Given the description of an element on the screen output the (x, y) to click on. 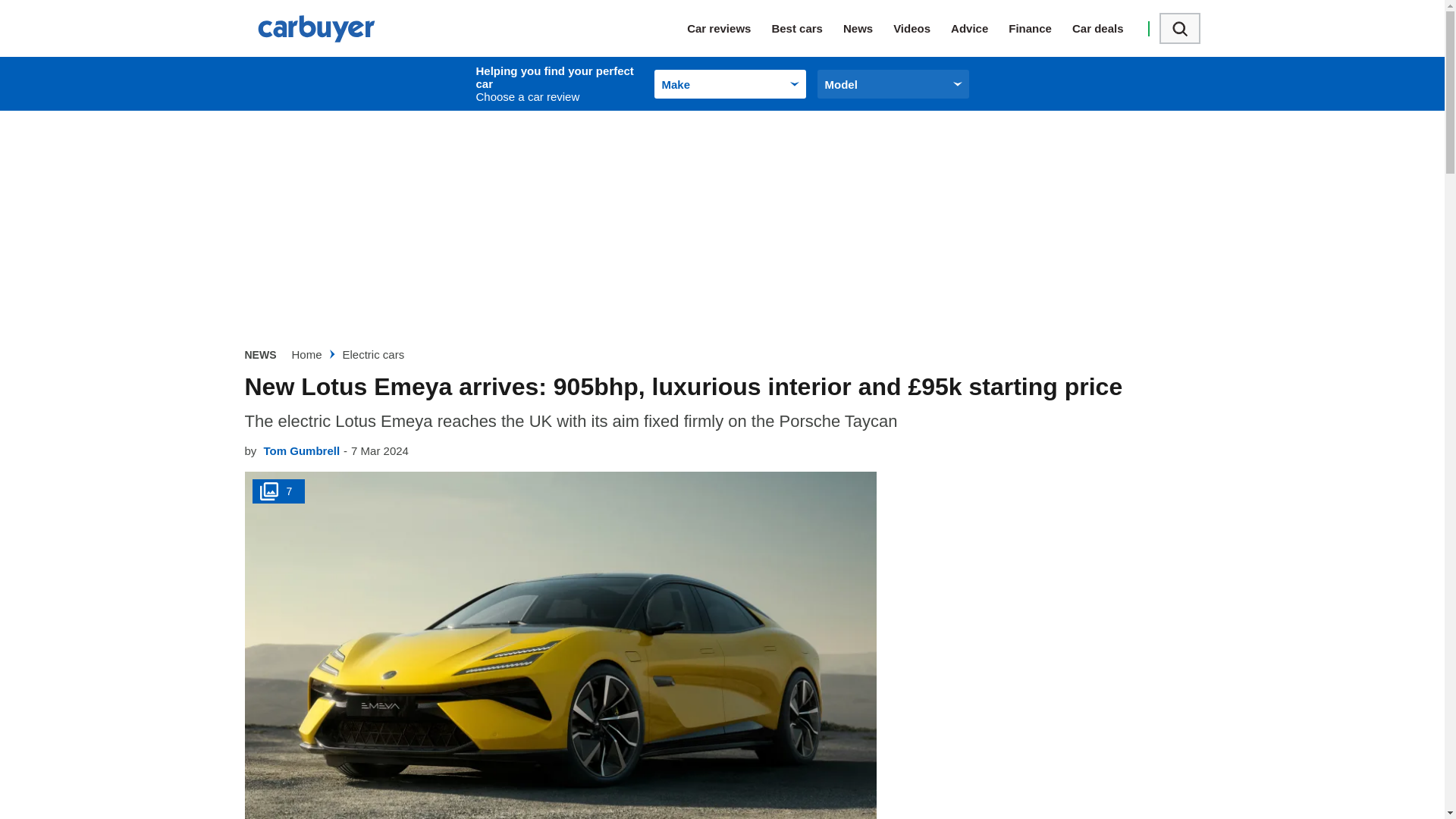
Videos (921, 27)
Car reviews (729, 27)
Search (1178, 28)
Car deals (1107, 27)
Best cars (807, 27)
Finance (1040, 27)
Advice (979, 27)
News (868, 27)
